Given the description of an element on the screen output the (x, y) to click on. 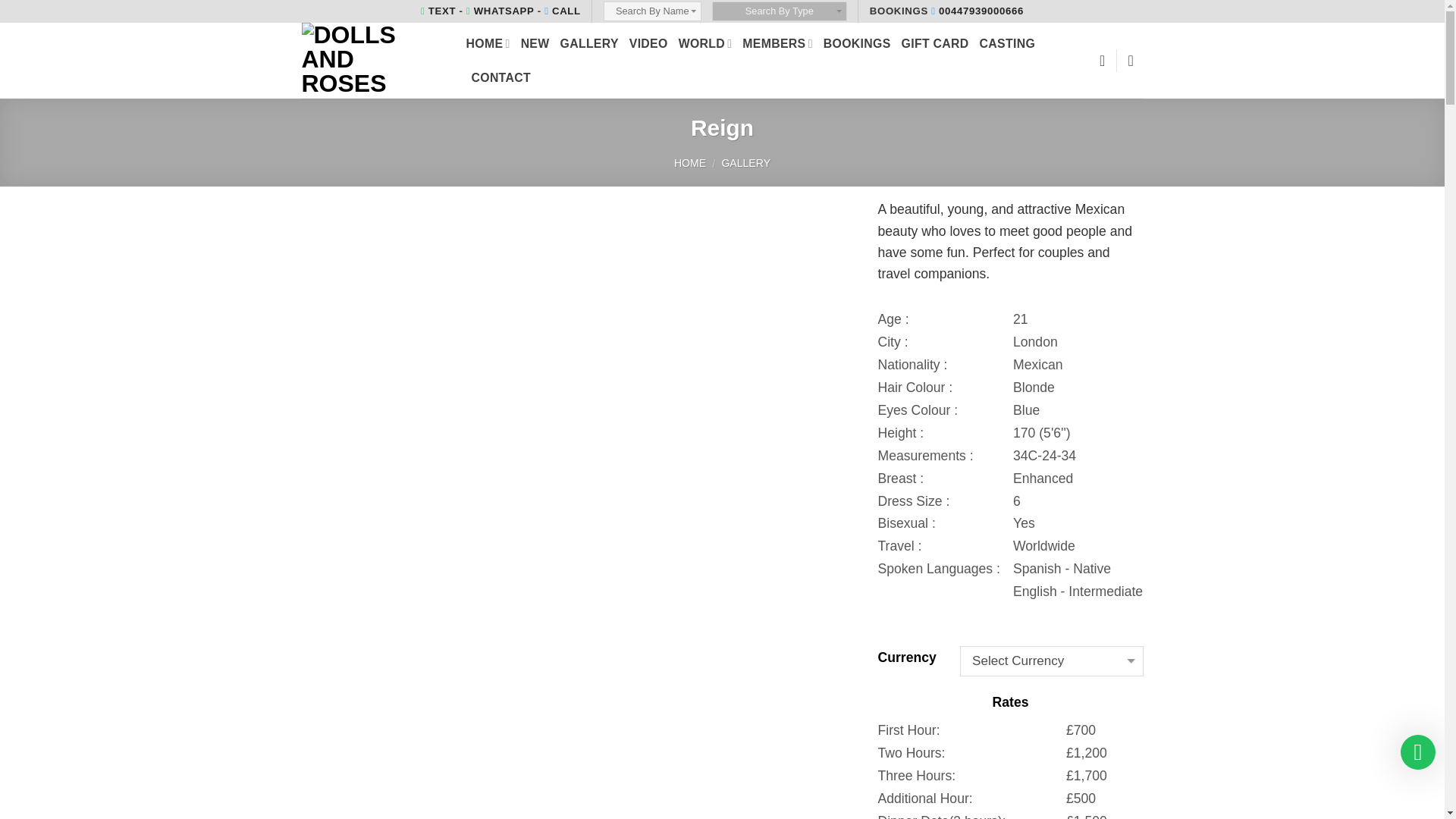
CASTING (1007, 43)
WORLD (705, 43)
00447939000666 (977, 10)
GALLERY (589, 43)
DOLLS AND ROSES (372, 60)
MEMBERS (777, 43)
GIFT CARD (935, 43)
TEXT (437, 10)
NEW (535, 43)
HOME (487, 43)
CALL (562, 10)
VIDEO (648, 43)
WHATSAPP (499, 10)
My account (1135, 60)
CONTACT (501, 77)
